Given the description of an element on the screen output the (x, y) to click on. 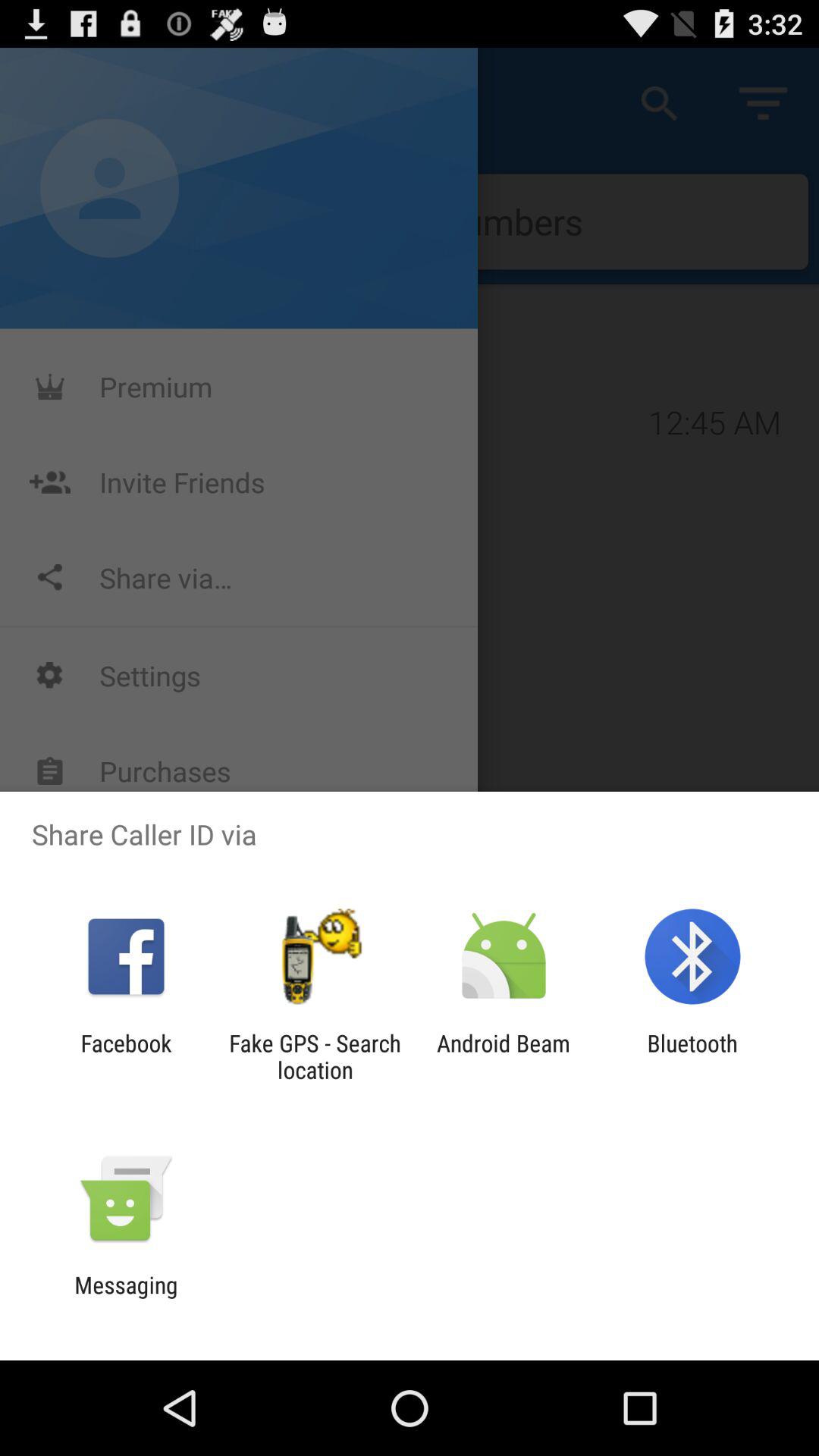
turn on the icon to the right of facebook item (314, 1056)
